Given the description of an element on the screen output the (x, y) to click on. 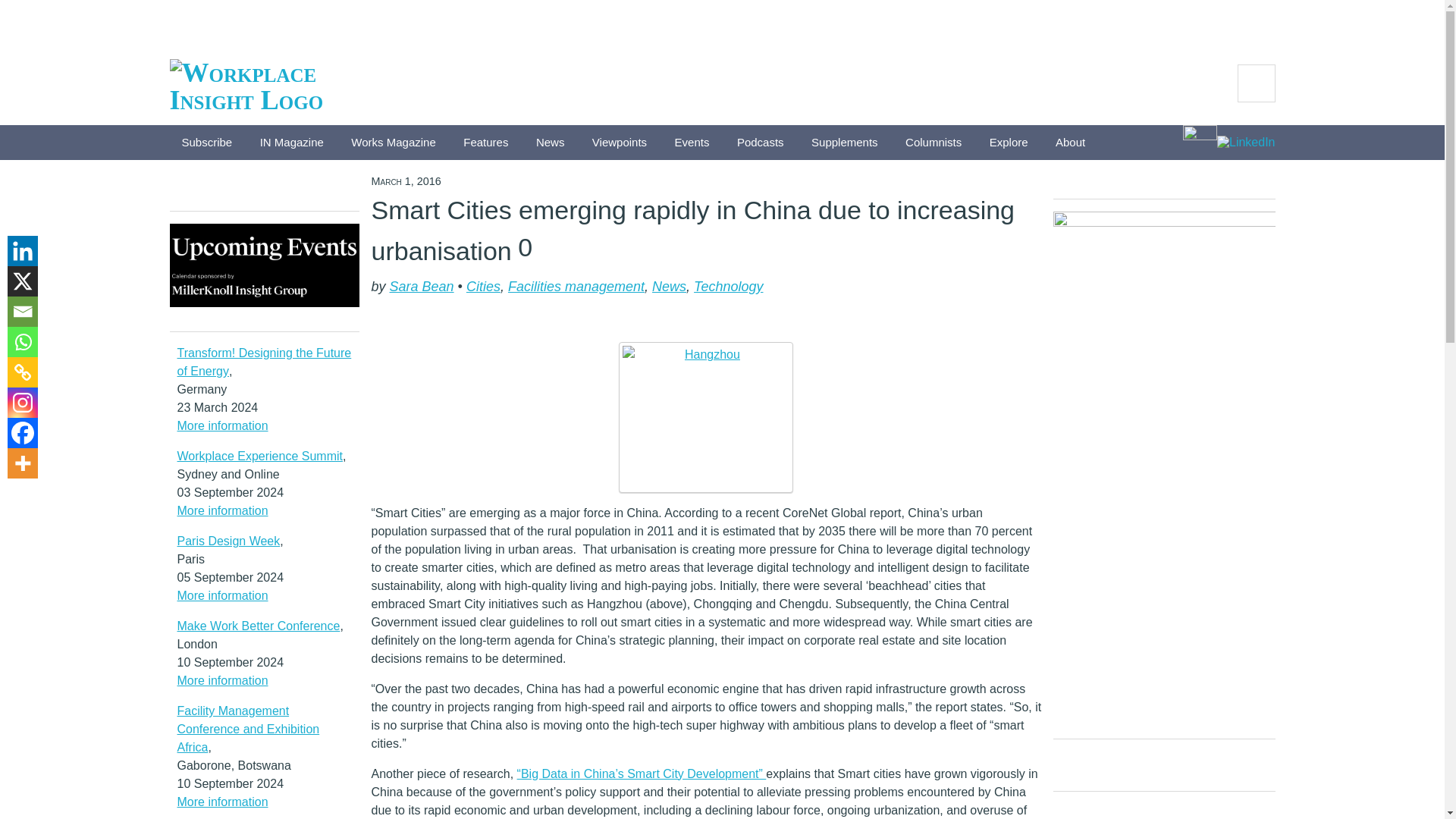
Email (22, 311)
Linkedin (22, 250)
About (1070, 142)
Events (692, 142)
LinkedIn (1246, 144)
Podcasts (760, 142)
More information (222, 425)
GO (1256, 83)
Subscribe (207, 142)
